Given the description of an element on the screen output the (x, y) to click on. 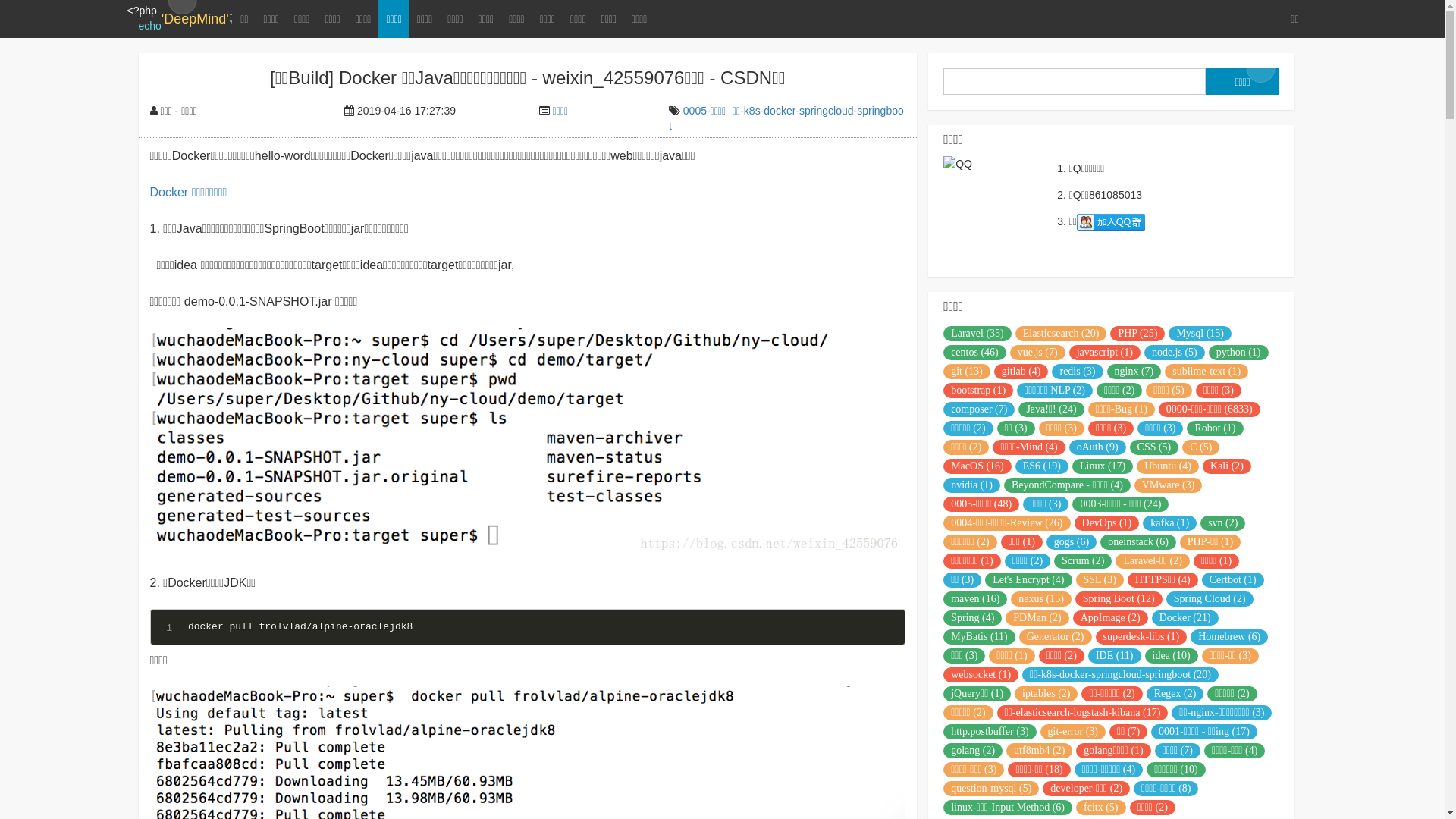
Robot (1) Element type: text (1214, 428)
Spring Boot (12) Element type: text (1118, 598)
websocket (1) Element type: text (980, 674)
git (13) Element type: text (966, 371)
Spring (4) Element type: text (972, 617)
Docker (21) Element type: text (1184, 617)
node.js (5) Element type: text (1174, 352)
Certbot (1) Element type: text (1232, 579)
SSL (3) Element type: text (1099, 579)
VMware (3) Element type: text (1168, 484)
sublime-text (1) Element type: text (1206, 371)
PHP (25) Element type: text (1137, 333)
Spring Cloud (2) Element type: text (1209, 598)
http.postbuffer (3) Element type: text (989, 731)
PDMan (2) Element type: text (1036, 617)
kafka (1) Element type: text (1169, 522)
idea (10) Element type: text (1171, 655)
Scrum (2) Element type: text (1082, 560)
maven (16) Element type: text (975, 598)
superdesk-libs (1) Element type: text (1140, 636)
Regex (2) Element type: text (1175, 693)
python (1) Element type: text (1238, 352)
ES6 (19) Element type: text (1041, 465)
Homebrew (6) Element type: text (1228, 636)
iptables (2) Element type: text (1045, 693)
Linux (17) Element type: text (1102, 465)
Mysql (15) Element type: text (1199, 333)
Ubuntu (4) Element type: text (1167, 465)
AppImage (2) Element type: text (1110, 617)
golang (2) Element type: text (972, 750)
oAuth (9) Element type: text (1097, 447)
nexus (15) Element type: text (1040, 598)
gitlab (4) Element type: text (1021, 371)
Laravel (35) Element type: text (977, 333)
nvidia (1) Element type: text (971, 484)
redis (3) Element type: text (1076, 371)
C (5) Element type: text (1200, 447)
utf8mb4 (2) Element type: text (1039, 750)
Generator (2) Element type: text (1055, 636)
Elasticsearch (20) Element type: text (1061, 333)
MacOS (16) Element type: text (977, 465)
oneinstack (6) Element type: text (1138, 541)
javascript (1) Element type: text (1104, 352)
git-error (3) Element type: text (1072, 731)
DeepMind 4 Hacking Yourself Element type: hover (1110, 221)
centos (46) Element type: text (974, 352)
nginx (7) Element type: text (1134, 371)
IDE (11) Element type: text (1114, 655)
Kali (2) Element type: text (1226, 465)
question-mysql (5) Element type: text (990, 788)
svn (2) Element type: text (1222, 522)
<?php
echo
'DeepMind'
; Element type: text (180, 18)
composer (7) Element type: text (978, 409)
vue.js (7) Element type: text (1037, 352)
MyBatis (11) Element type: text (979, 636)
CSS (5) Element type: text (1154, 447)
fcitx (5) Element type: text (1100, 807)
DevOps (1) Element type: text (1106, 522)
gogs (6) Element type: text (1071, 541)
Let's Encrypt (4) Element type: text (1028, 579)
bootstrap (1) Element type: text (978, 390)
